Given the description of an element on the screen output the (x, y) to click on. 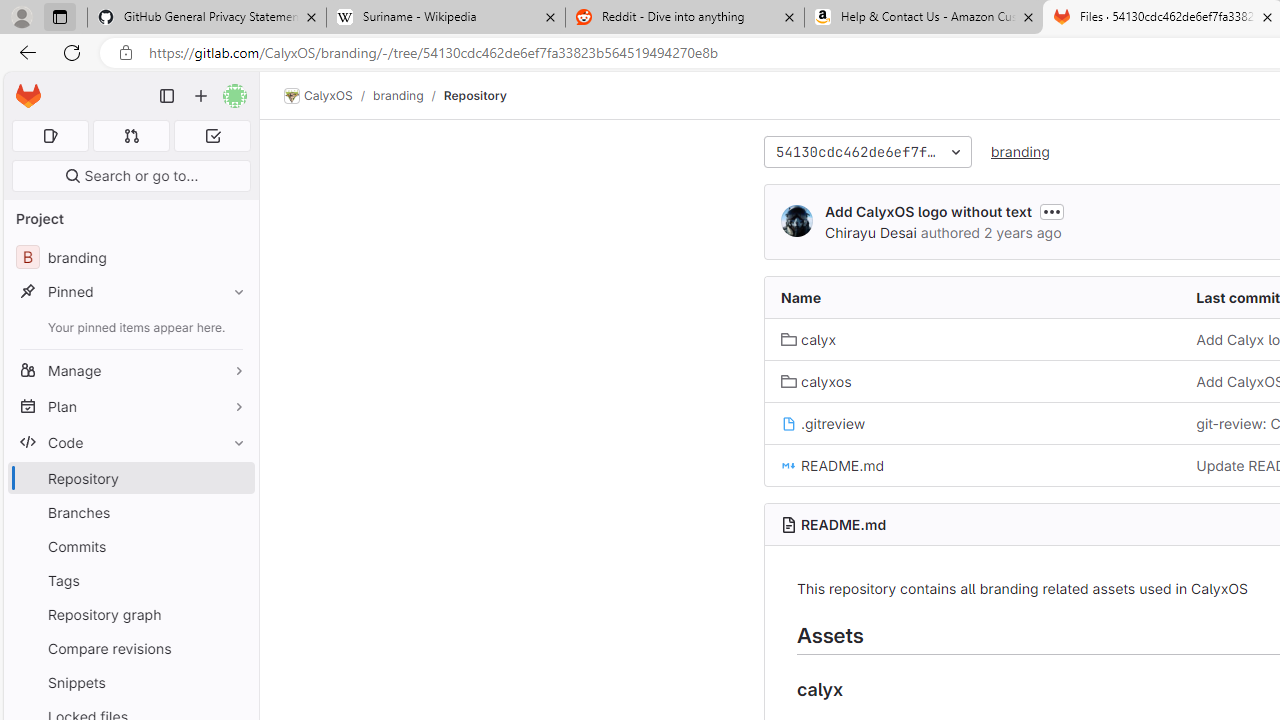
calyxos (973, 381)
README.md (843, 524)
Compare revisions (130, 648)
Class: s16 position-relative file-icon (788, 465)
Pin Commits (234, 546)
Pin Repository graph (234, 614)
CalyxOS/ (328, 96)
.gitreview (973, 422)
Compare revisions (130, 648)
Assigned issues 0 (50, 136)
Skip to main content (23, 87)
Pinned (130, 291)
